Given the description of an element on the screen output the (x, y) to click on. 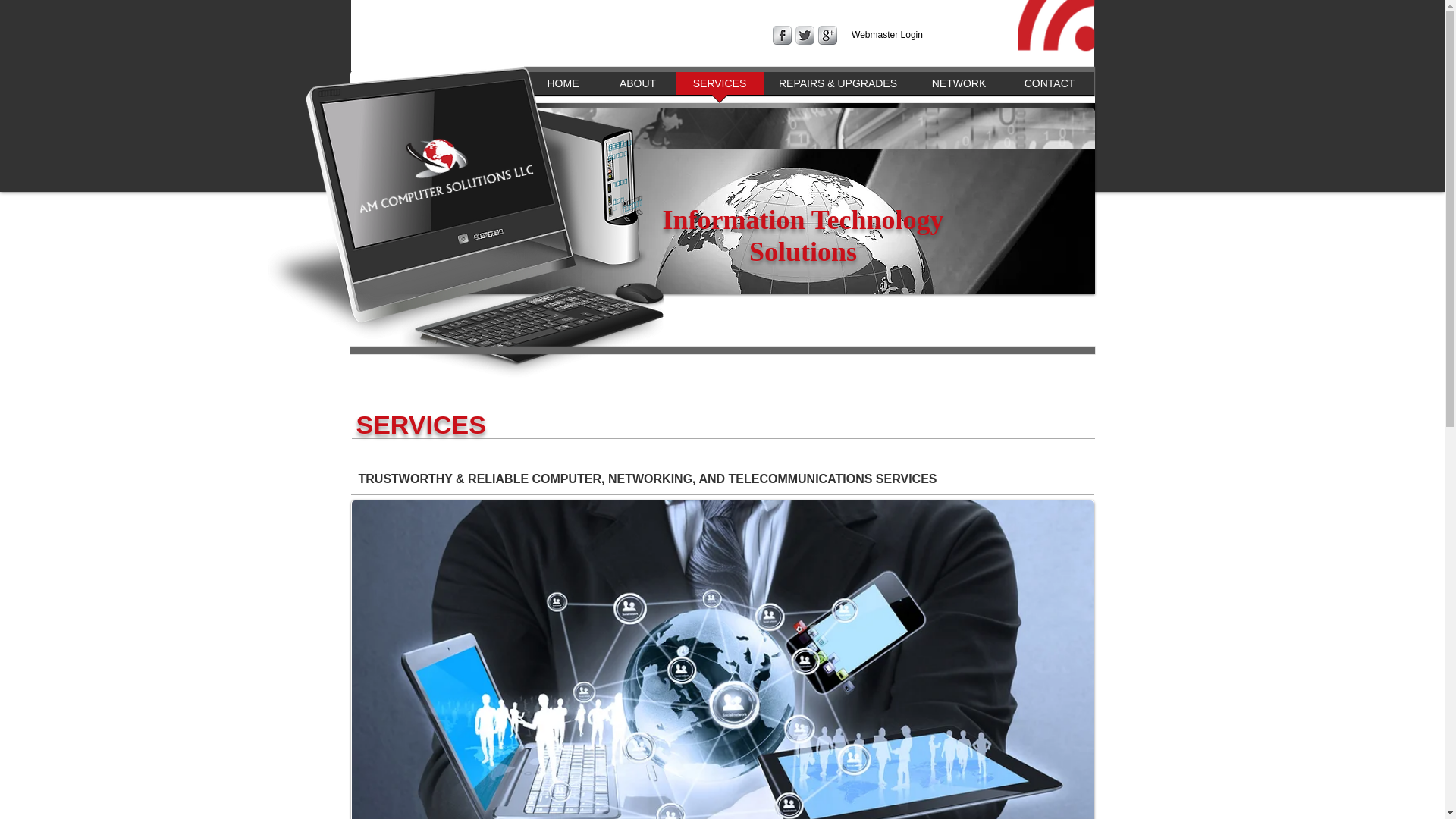
Las Vegas Computer Repair.png (1064, 17)
CONTACT (1050, 88)
NETWORK (959, 88)
ABOUT (636, 88)
Webmaster Login (887, 34)
-office-desktop.png (465, 224)
SERVICES (719, 88)
HOME (561, 88)
